Given the description of an element on the screen output the (x, y) to click on. 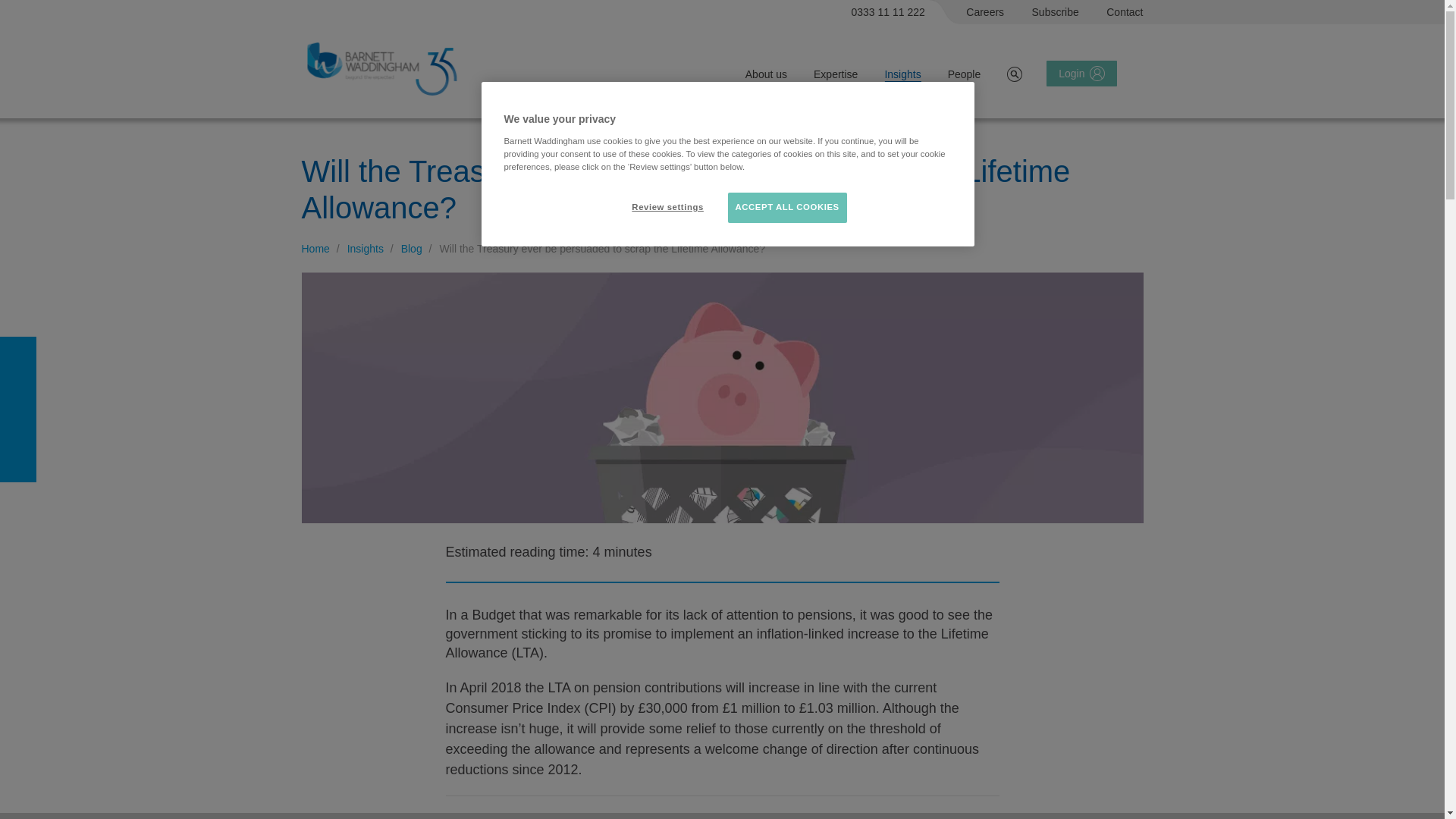
Careers (985, 12)
Subscribe (1055, 12)
Expertise (835, 73)
0333 11 11 222 (889, 12)
Contact (1124, 12)
About us (766, 73)
